Given the description of an element on the screen output the (x, y) to click on. 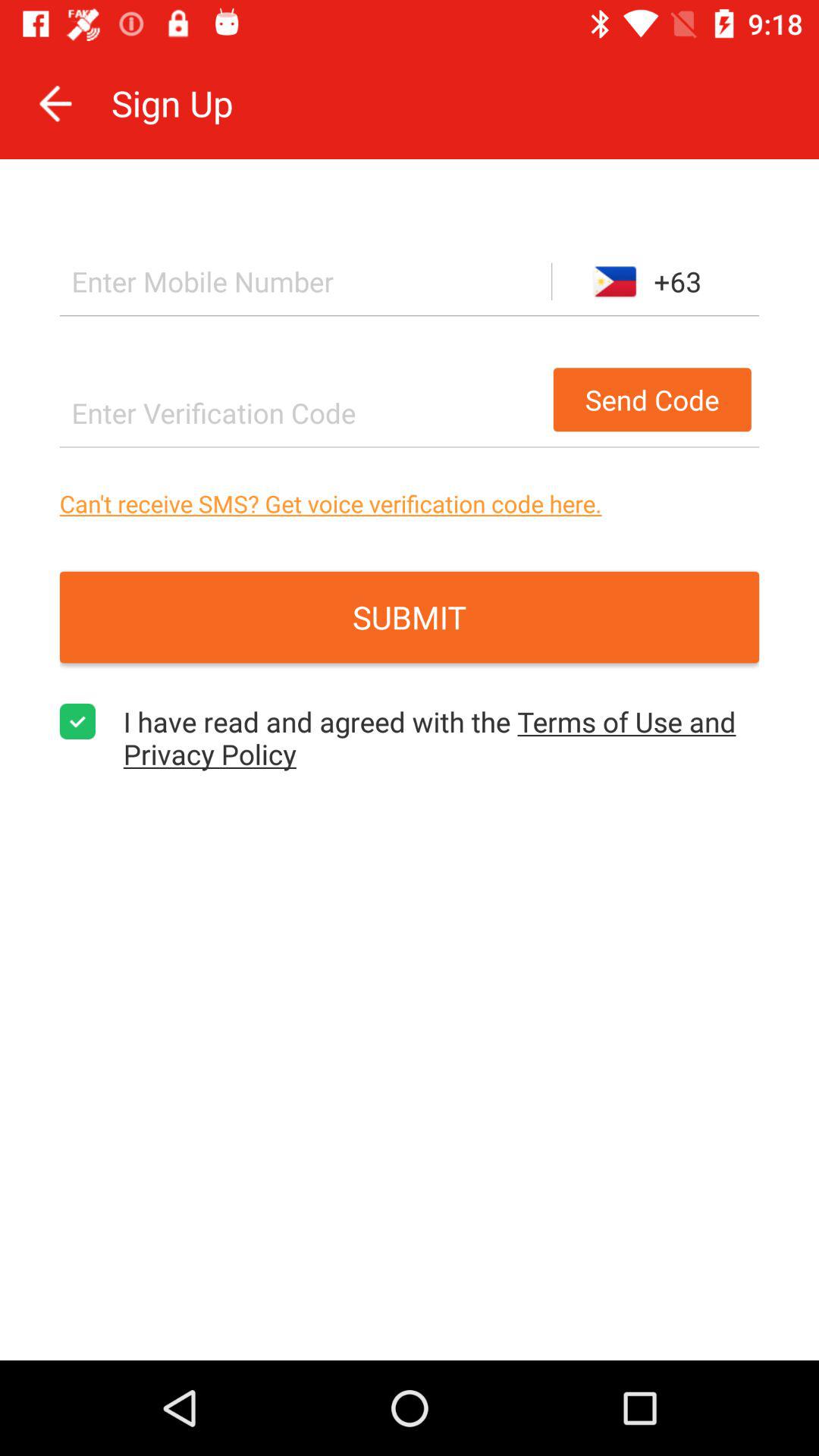
click the item to the left of i have read (77, 721)
